Given the description of an element on the screen output the (x, y) to click on. 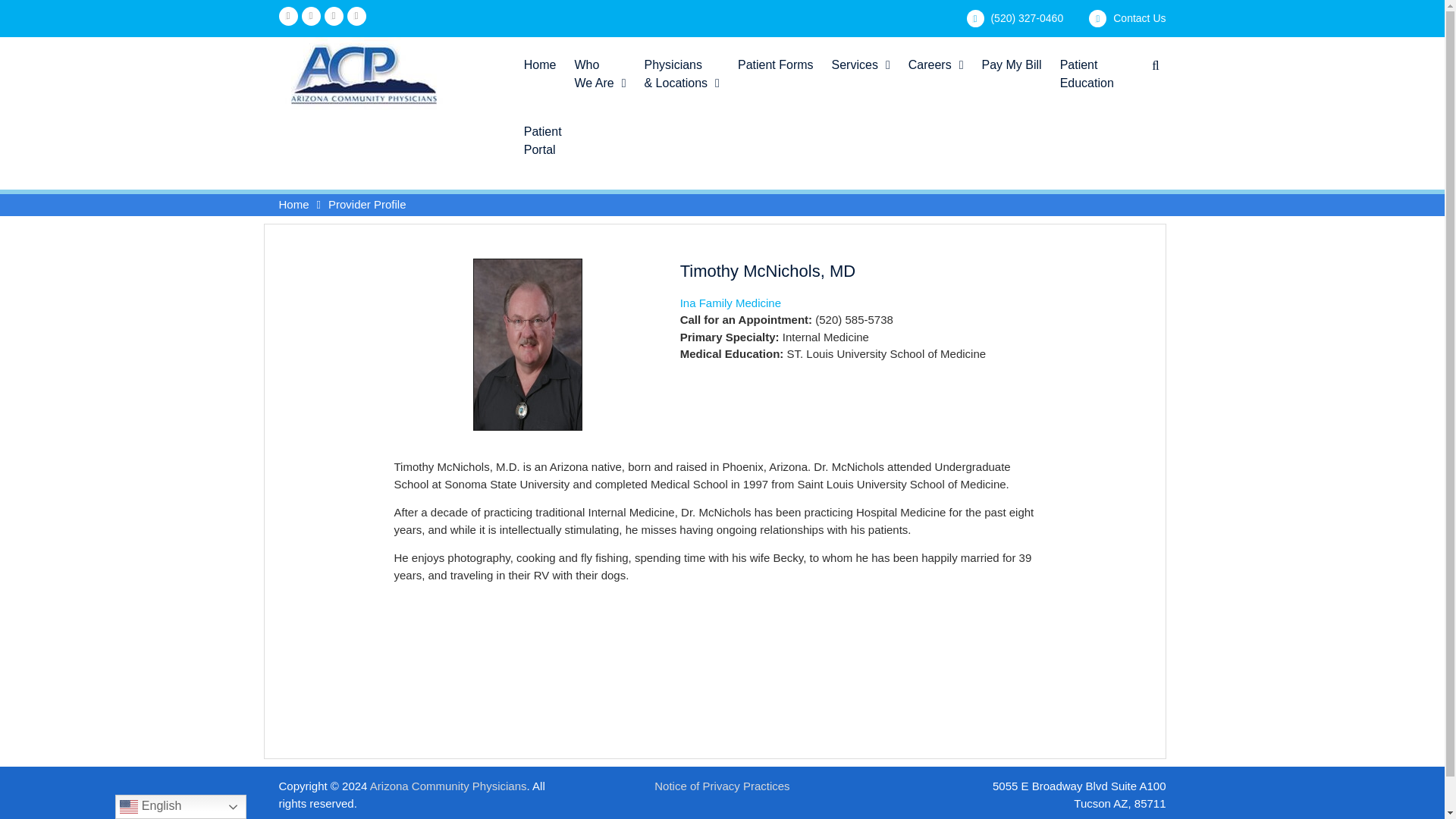
Facebook (288, 15)
Services (599, 70)
Patient Forms (860, 60)
Home (775, 60)
Careers (540, 60)
LinkedIn (935, 60)
Twitter (333, 15)
Contact Us (310, 15)
Instagram (1139, 17)
